Given the description of an element on the screen output the (x, y) to click on. 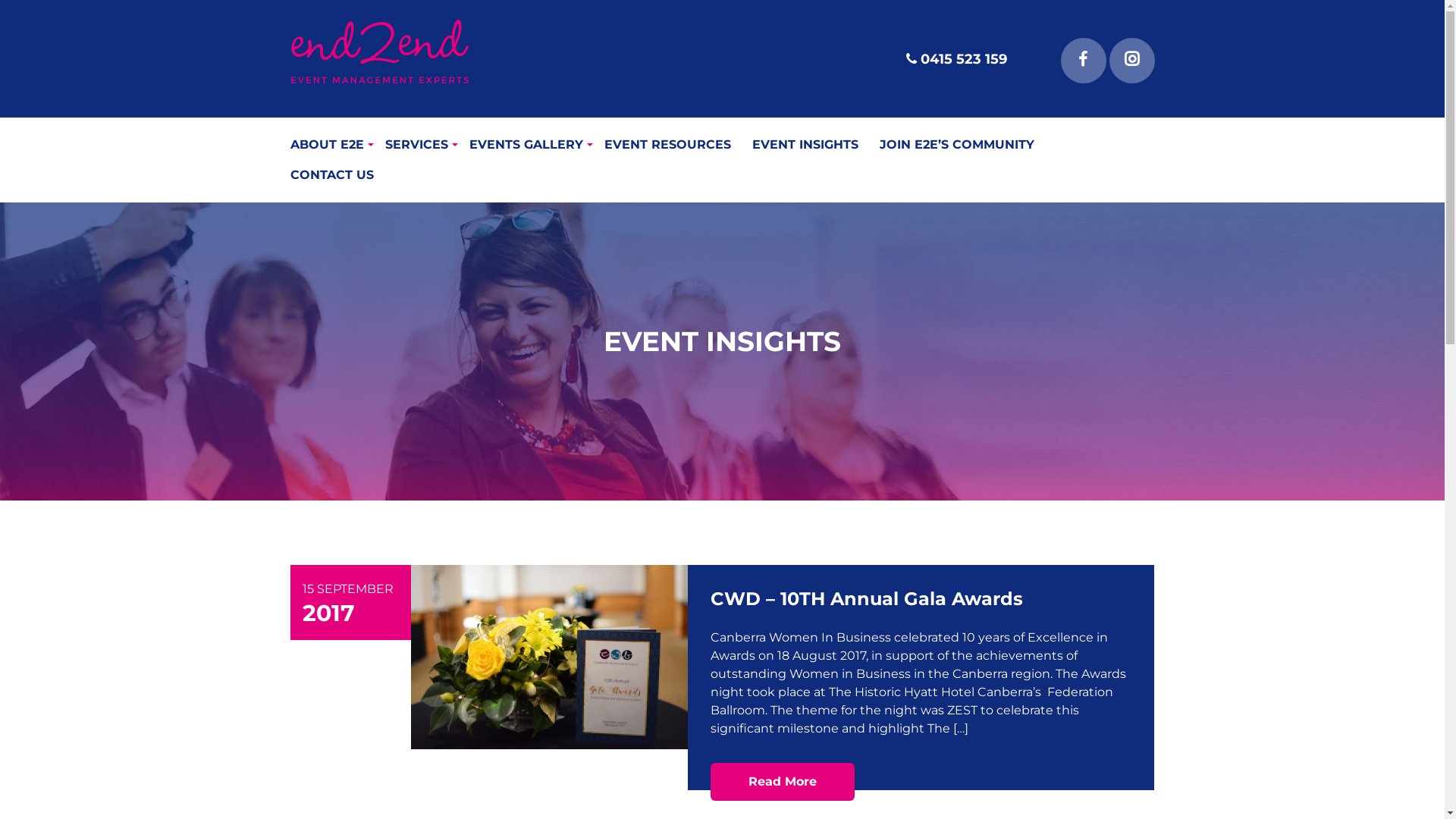
0415 523 159 Element type: text (955, 53)
CONTACT US Element type: text (341, 175)
Read More Element type: text (782, 781)
EVENTS GALLERY Element type: text (535, 144)
Facebook Element type: hover (1082, 60)
EVENT INSIGHTS Element type: text (815, 144)
SERVICES Element type: text (427, 144)
EVENT RESOURCES Element type: text (677, 144)
ABOUT E2E Element type: text (336, 144)
Instagram Element type: hover (1131, 60)
